Given the description of an element on the screen output the (x, y) to click on. 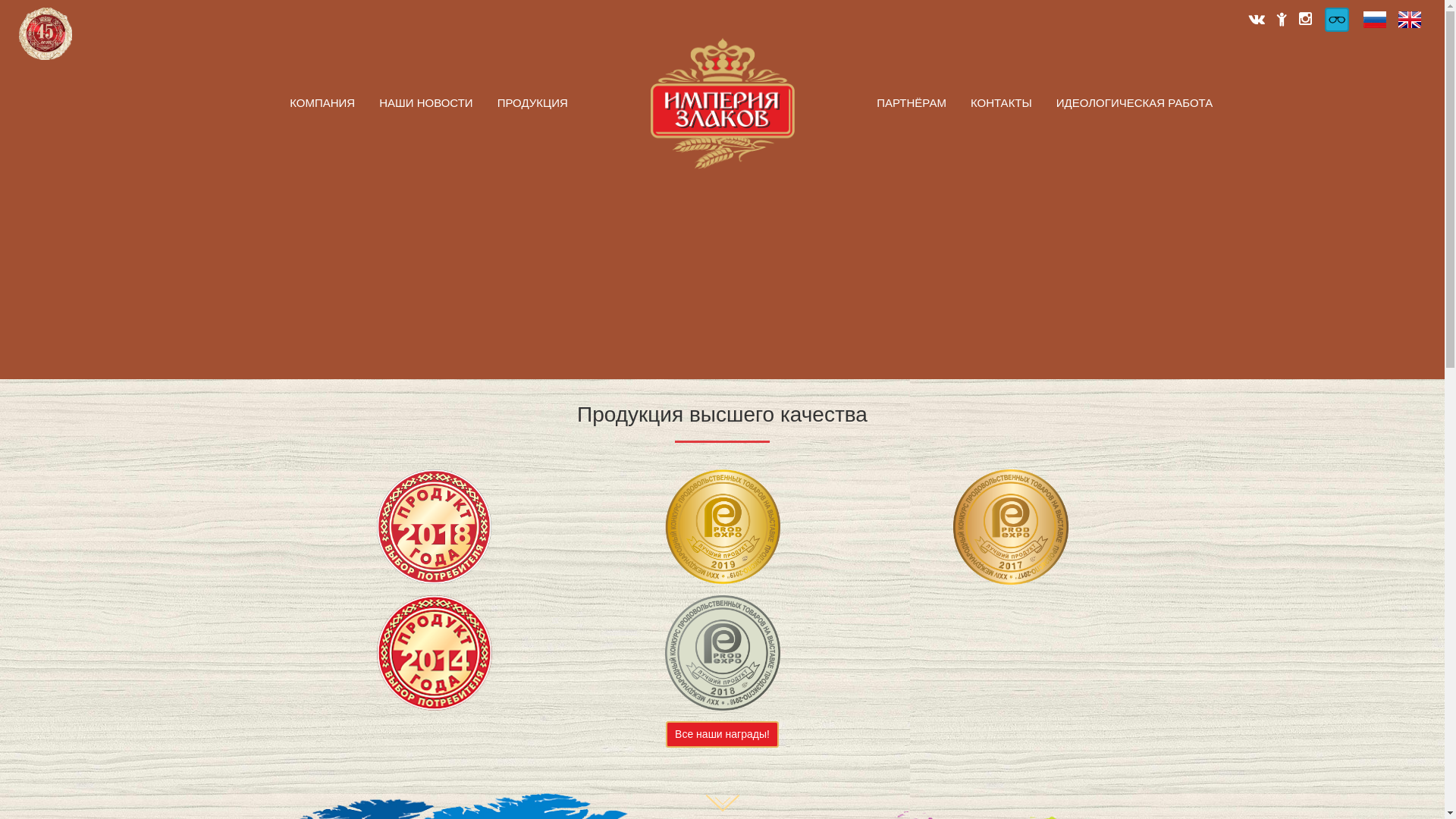
Russian (Russia) Element type: hover (1374, 19)
English (United Kingdom) Element type: hover (1409, 19)
